Given the description of an element on the screen output the (x, y) to click on. 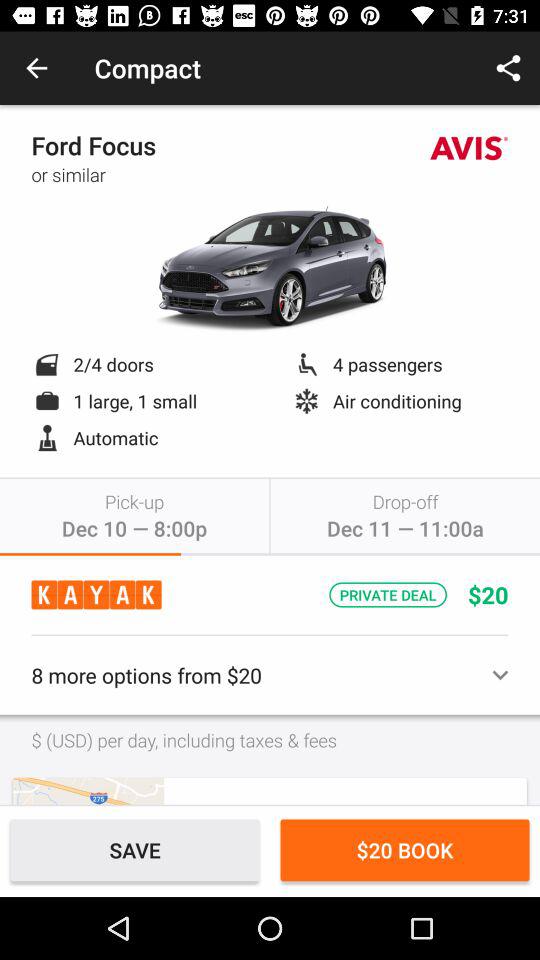
choose icon to the right of the compact item (508, 67)
